Given the description of an element on the screen output the (x, y) to click on. 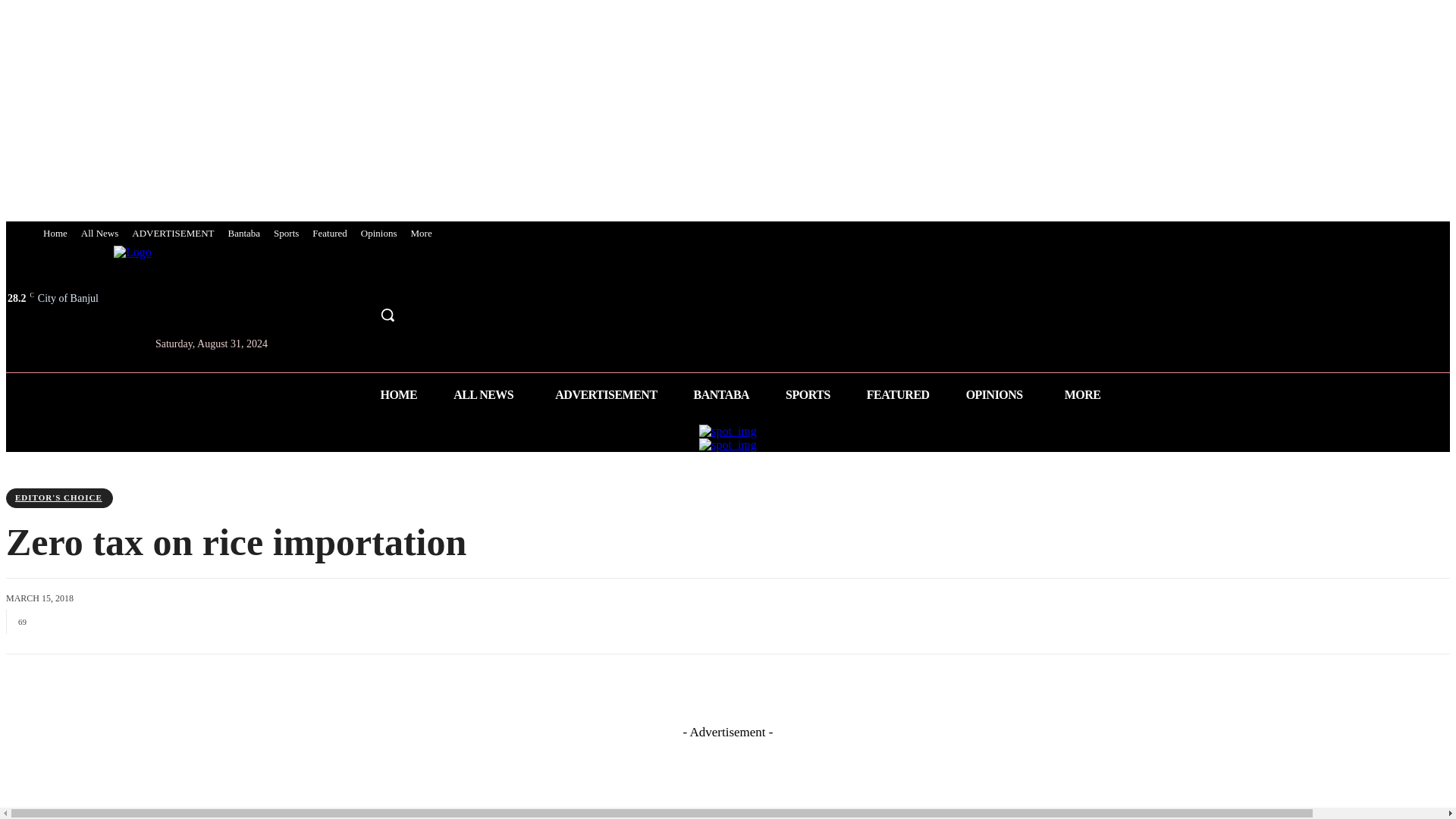
ALL NEWS (486, 394)
ADVERTISEMENT (173, 233)
More (420, 233)
All News (99, 233)
Youtube (390, 281)
Home (55, 233)
Twitter (362, 281)
Facebook (334, 281)
Featured (329, 233)
HOME (398, 394)
